Given the description of an element on the screen output the (x, y) to click on. 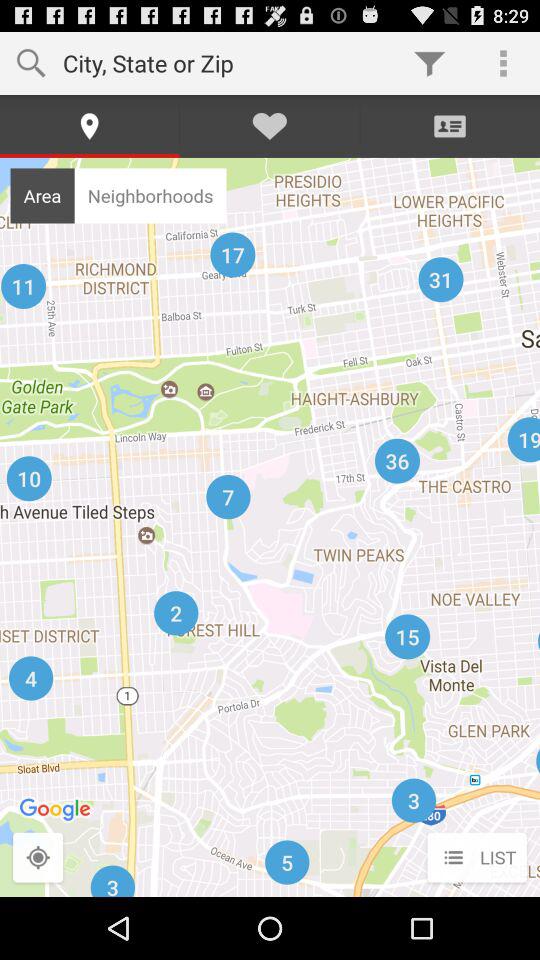
toggle search area (37, 858)
